Given the description of an element on the screen output the (x, y) to click on. 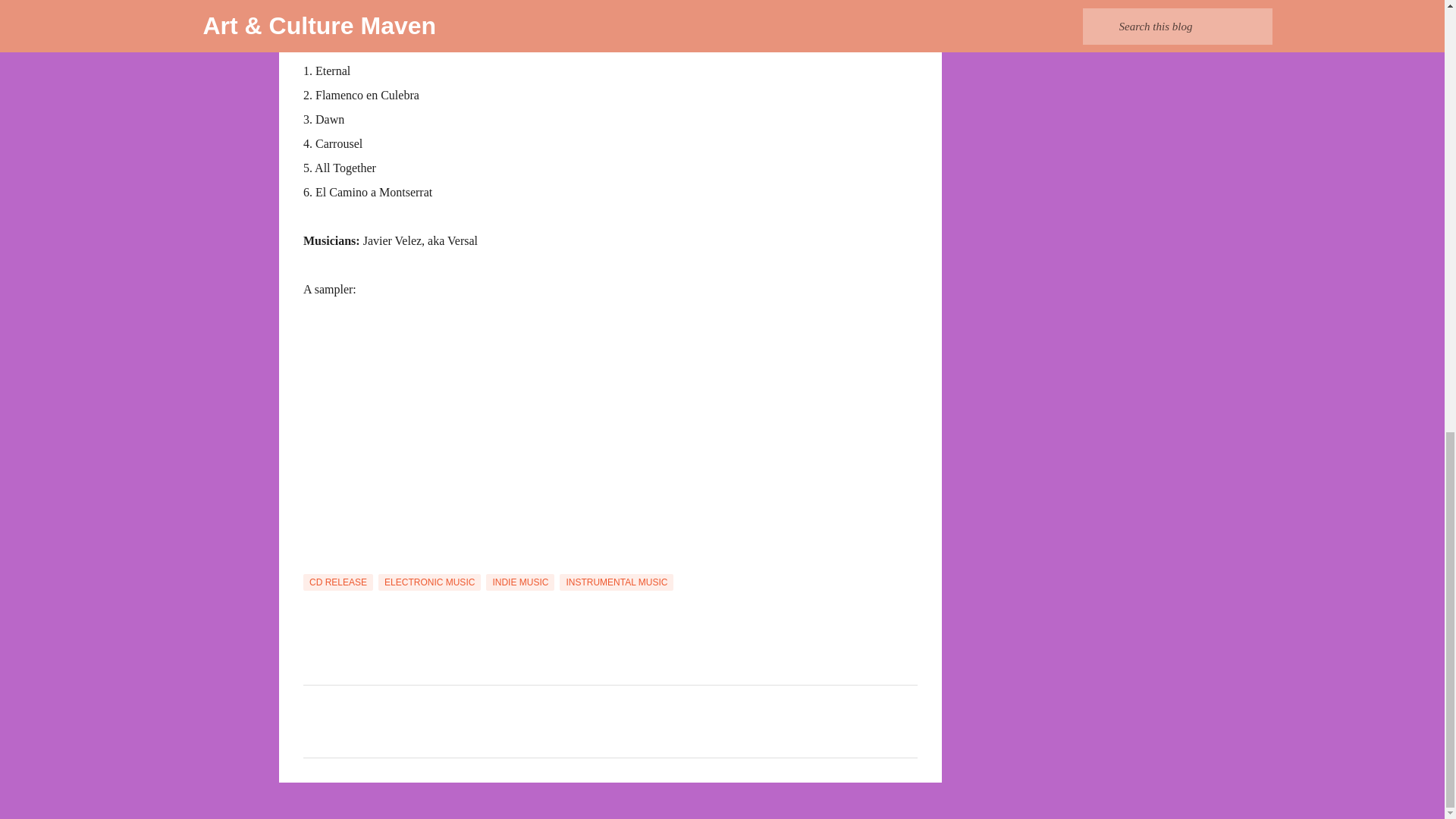
INSTRUMENTAL MUSIC (615, 582)
Email Post (311, 563)
CD RELEASE (337, 582)
ELECTRONIC MUSIC (429, 582)
INDIE MUSIC (520, 582)
